Given the description of an element on the screen output the (x, y) to click on. 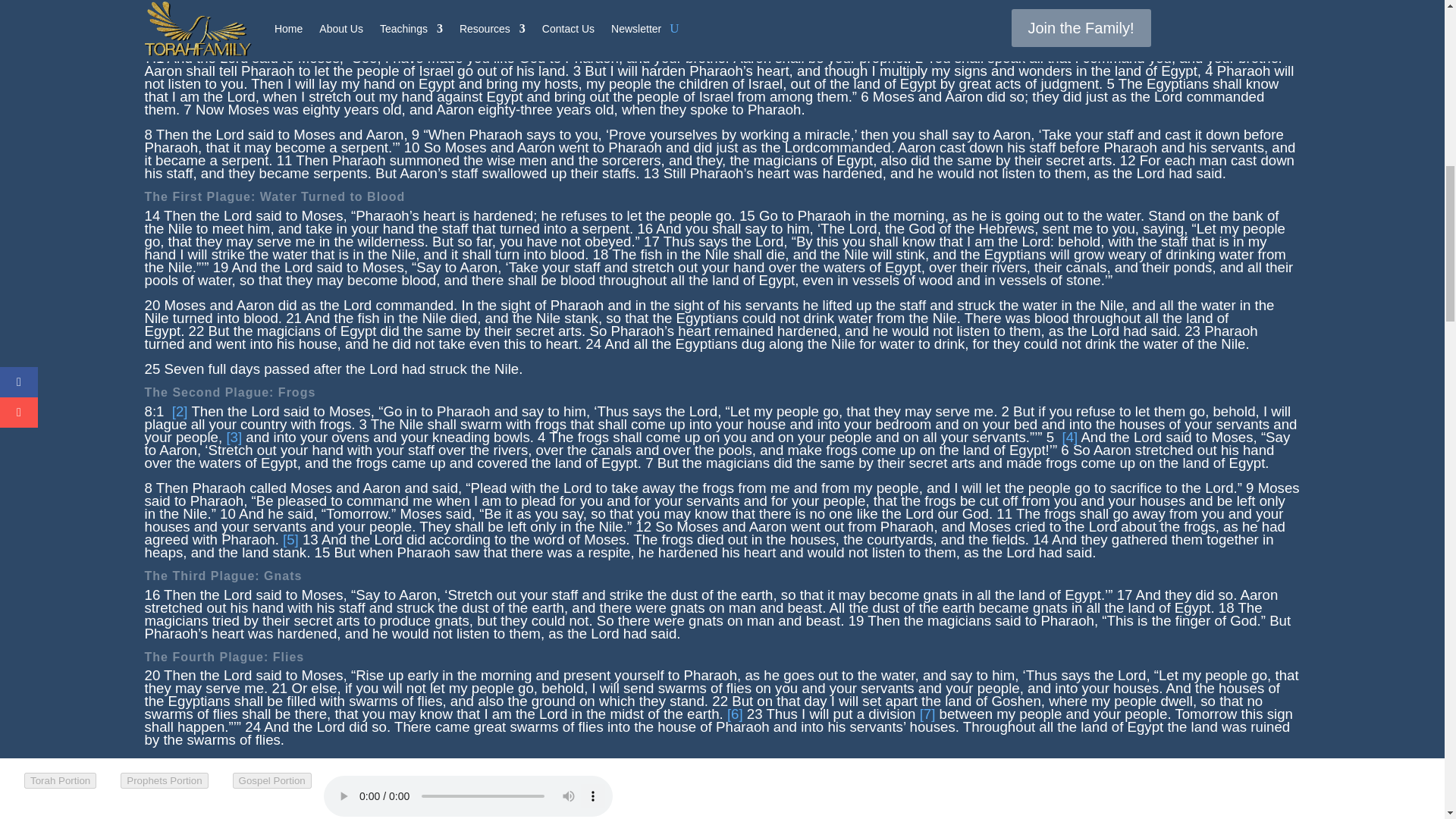
Septuagint, Vulgate; Hebrew 'set redemption' (928, 713)
Or 'that I the LORD am in the land' (734, 713)
Ch 8:1 in Hebrew (1069, 437)
Or 'among your people' (233, 437)
Ch 7:26 in Hebrew (179, 411)
Or 'which he had brought upon Pharaoh' (290, 539)
